Given the description of an element on the screen output the (x, y) to click on. 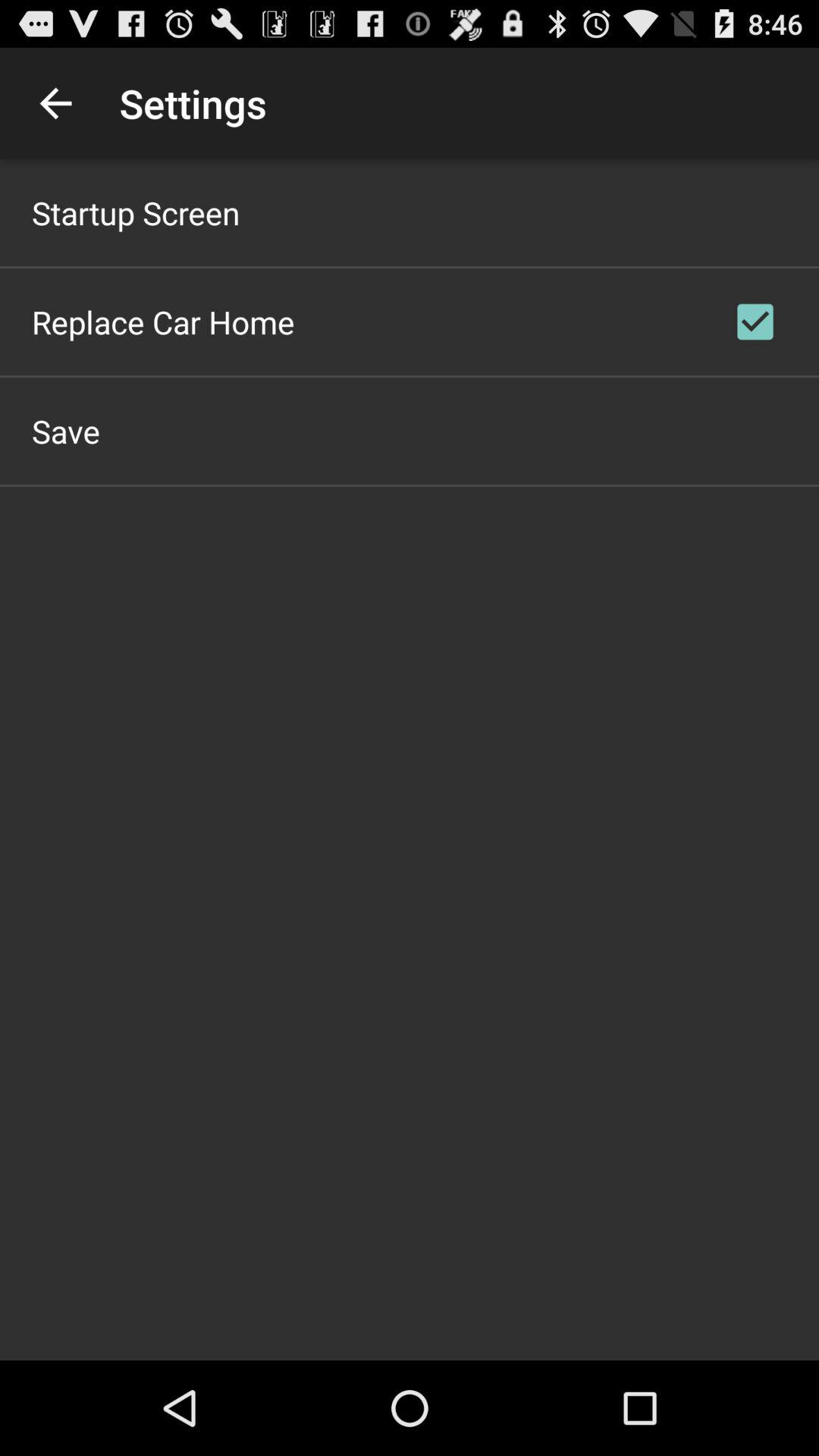
launch the app next to the replace car home app (755, 321)
